Given the description of an element on the screen output the (x, y) to click on. 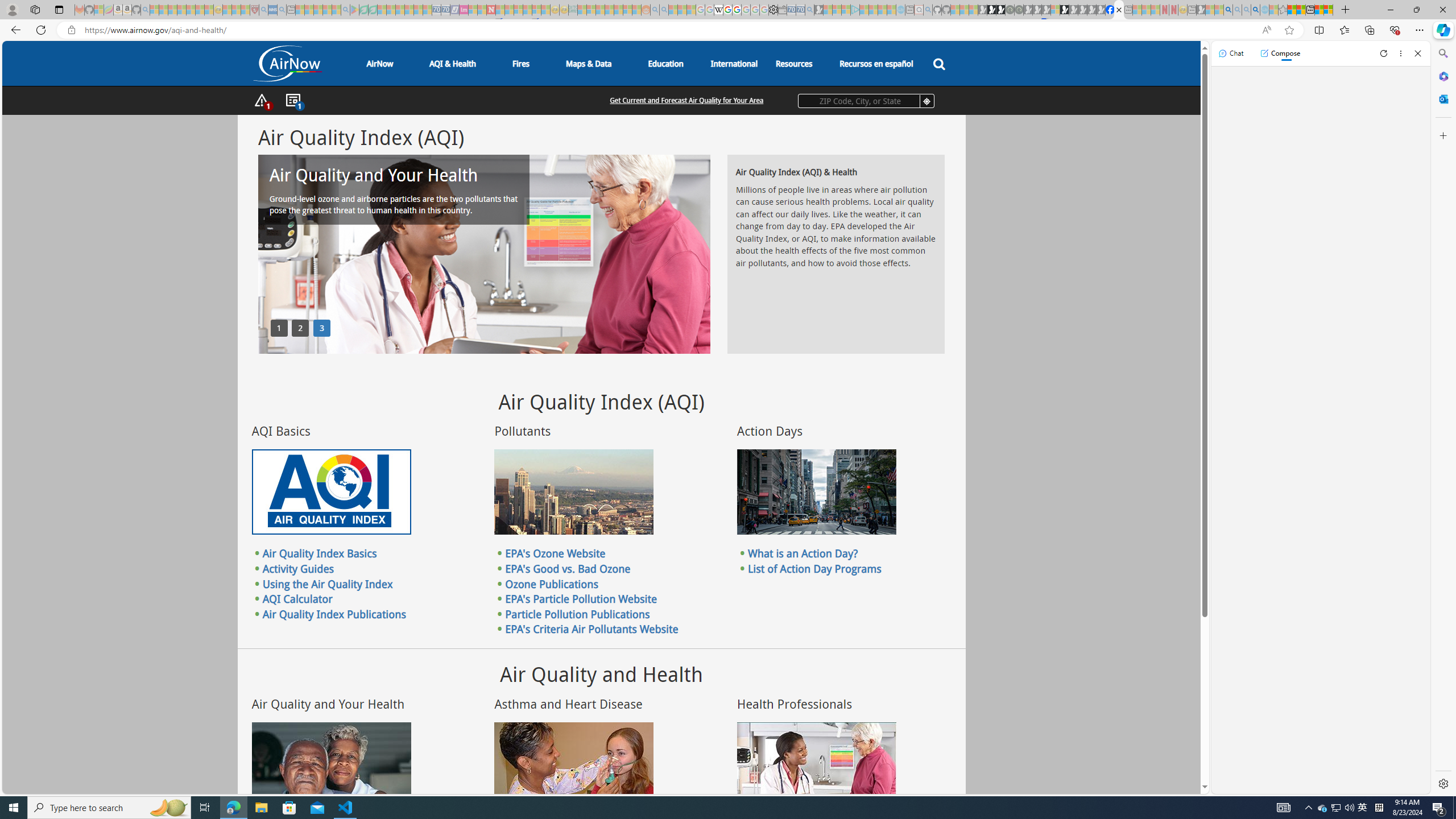
Aberdeen, Hong Kong SAR weather forecast | Microsoft Weather (1300, 9)
Chat (1230, 52)
Health Professionals (816, 763)
Favorites - Sleeping (1283, 9)
Play Zoo Boom in your browser | Games from Microsoft Start (991, 9)
Particle Pollution Publications (577, 613)
MSN - Sleeping (1200, 9)
